Given the description of an element on the screen output the (x, y) to click on. 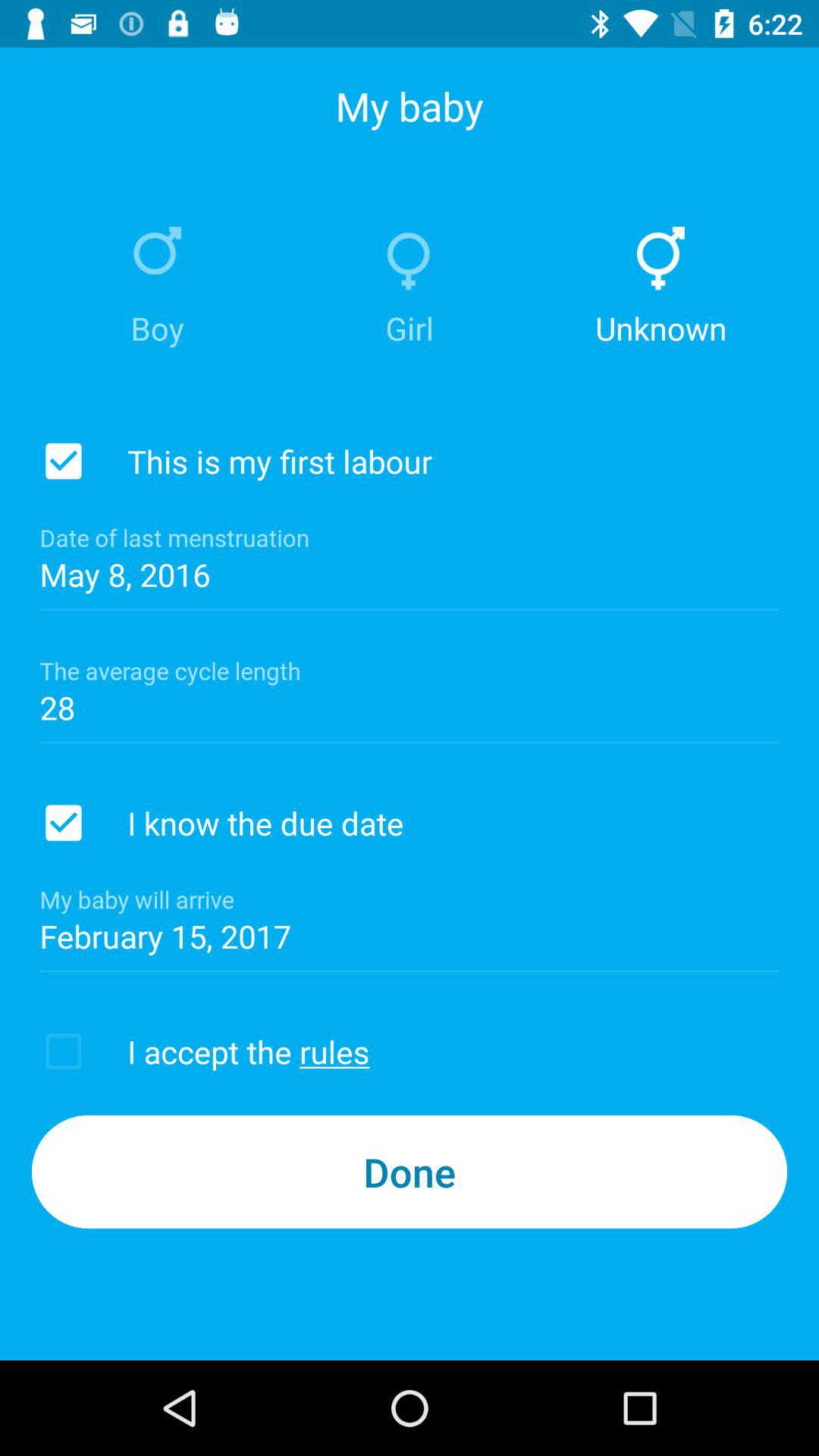
toggle yes/no (63, 461)
